Given the description of an element on the screen output the (x, y) to click on. 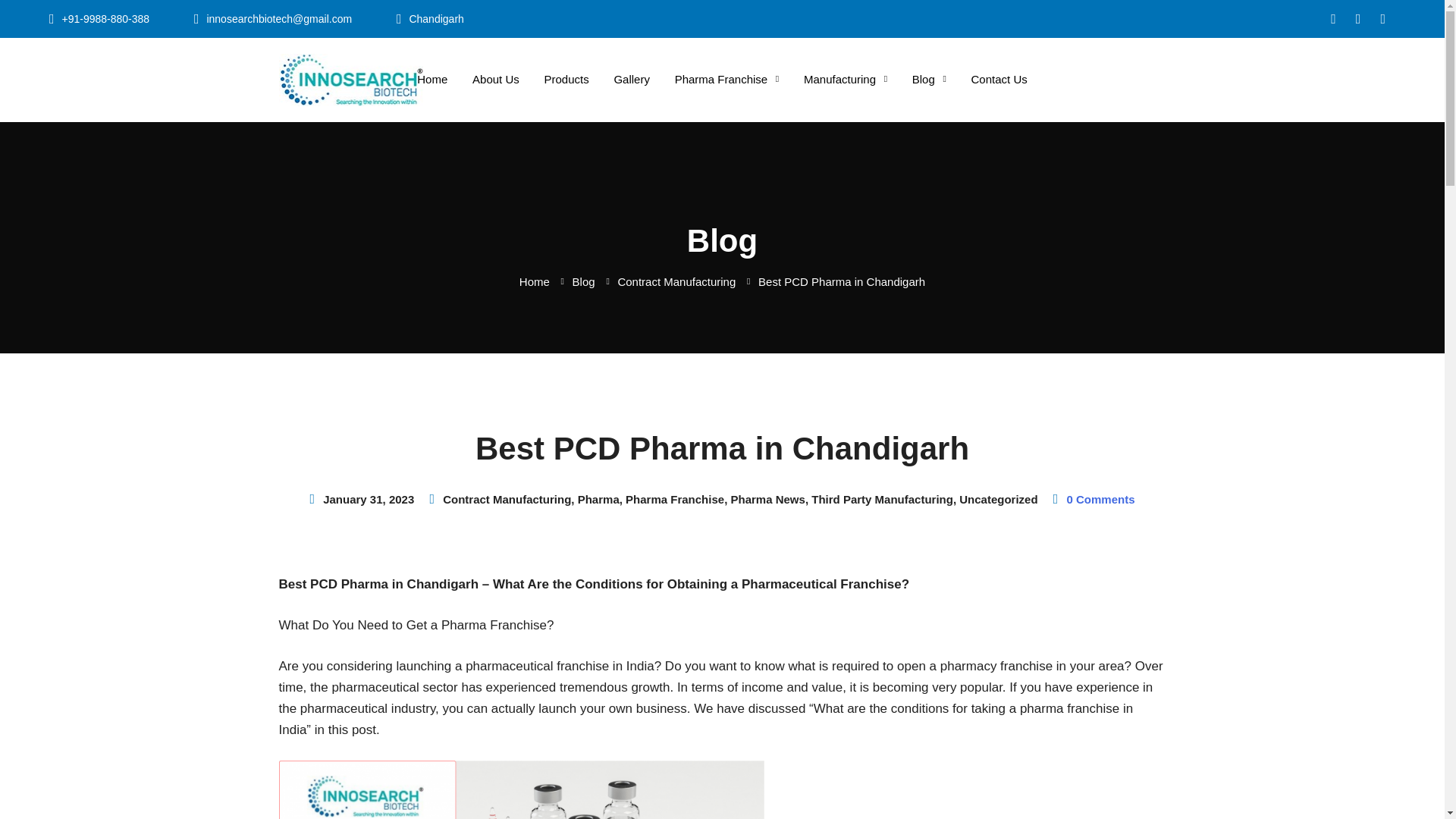
0 Comments (1101, 499)
Pharma News (767, 499)
Home (534, 281)
Pharma Franchise (726, 79)
Uncategorized (997, 499)
Contact Us (999, 79)
Third Party Manufacturing (881, 499)
Contract Manufacturing (676, 281)
Manufacturing (845, 79)
Pharma (599, 499)
